Given the description of an element on the screen output the (x, y) to click on. 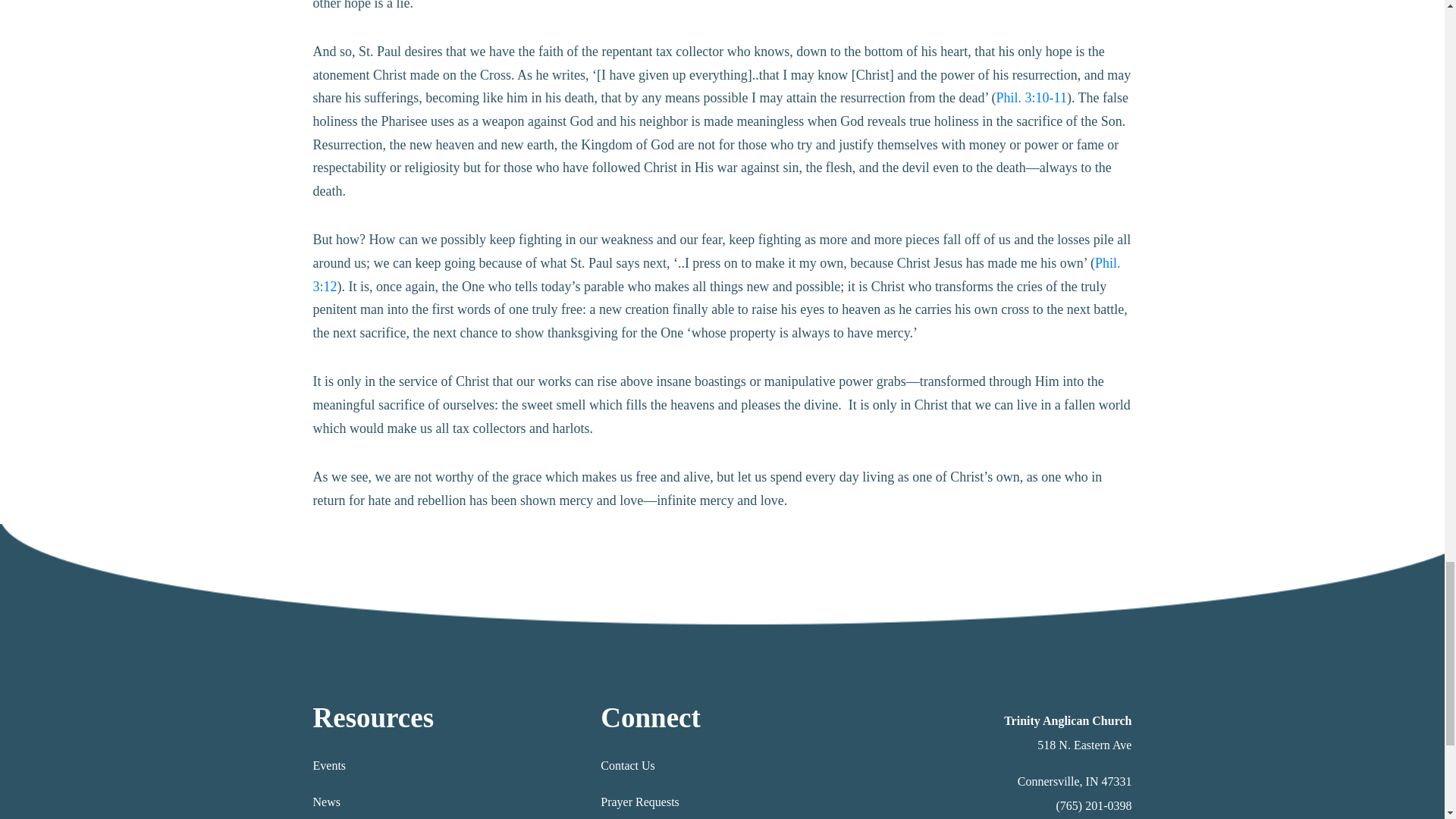
Phil. 3:12 (716, 274)
Phil. 3:10-11 (1031, 97)
News (326, 801)
Events (329, 765)
